Given the description of an element on the screen output the (x, y) to click on. 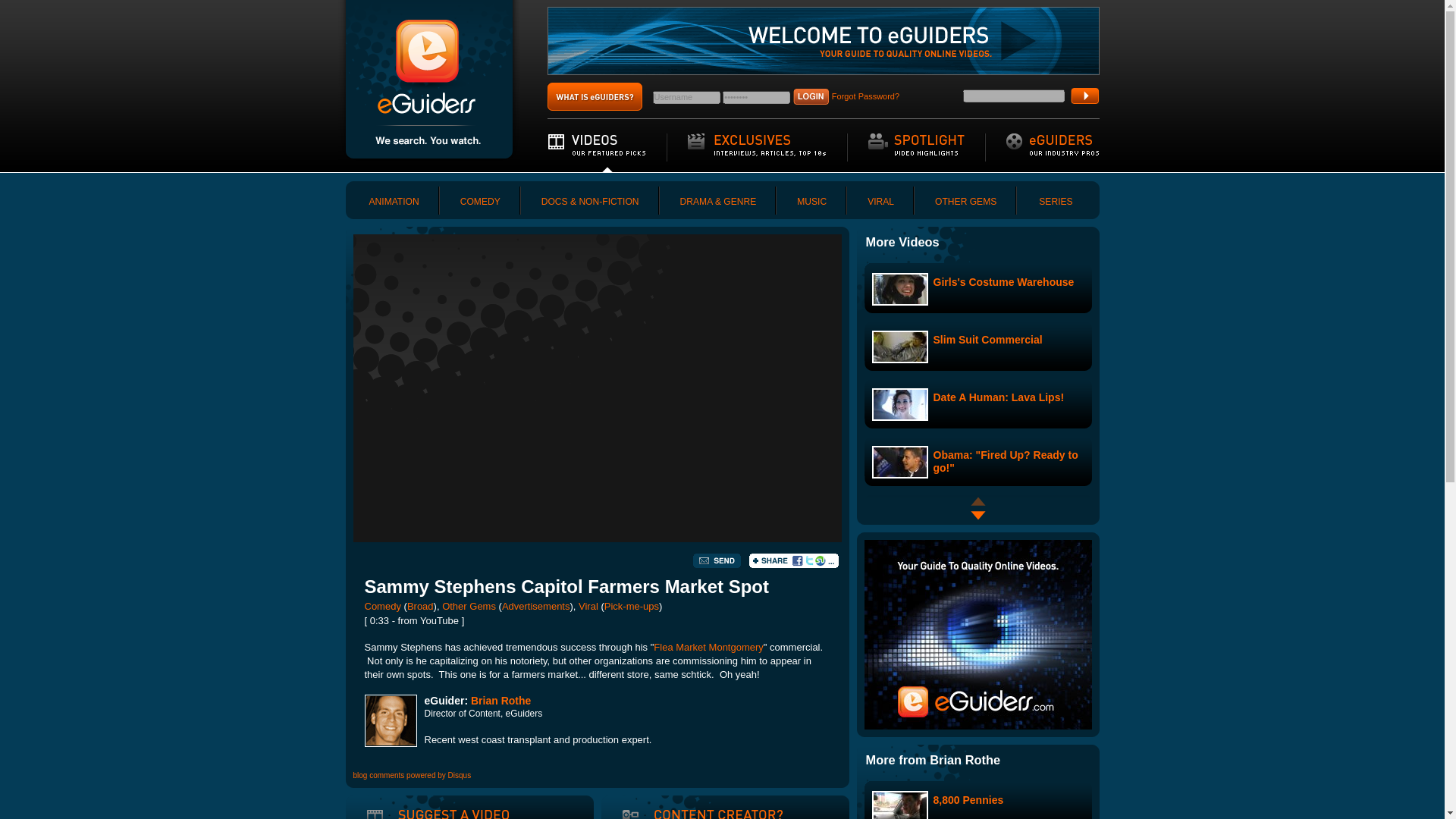
Forgot Password? (865, 95)
Username (685, 97)
Submit (1084, 95)
Password (756, 97)
